Given the description of an element on the screen output the (x, y) to click on. 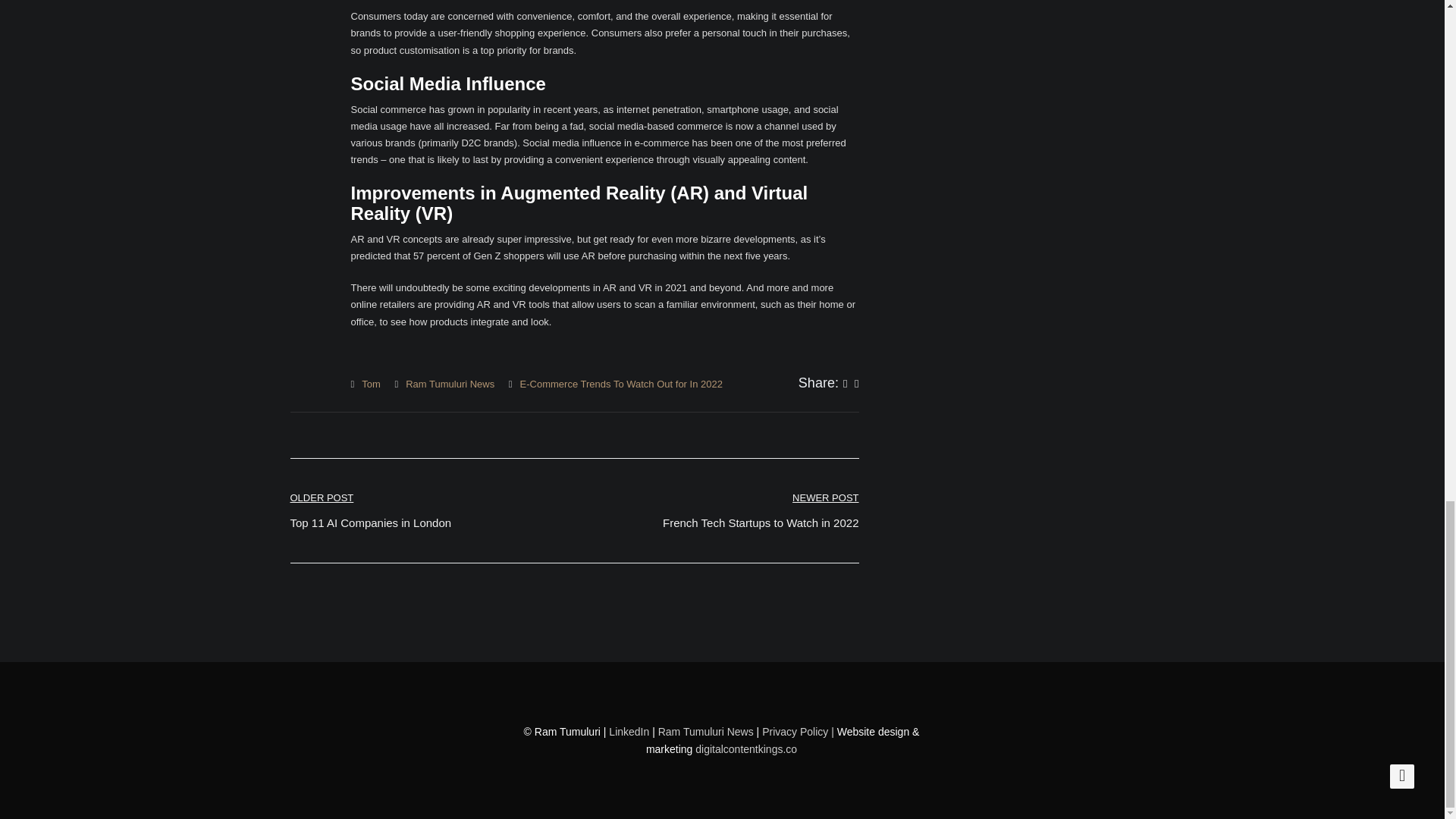
Ram Tumuluri News (706, 731)
Tom (370, 383)
Ram Tumuluri News (450, 383)
digitalcontentkings.co (760, 510)
Posts by Tom (745, 748)
E-Commerce Trends To Watch Out for In 2022 (370, 383)
LinkedIn (370, 510)
